Given the description of an element on the screen output the (x, y) to click on. 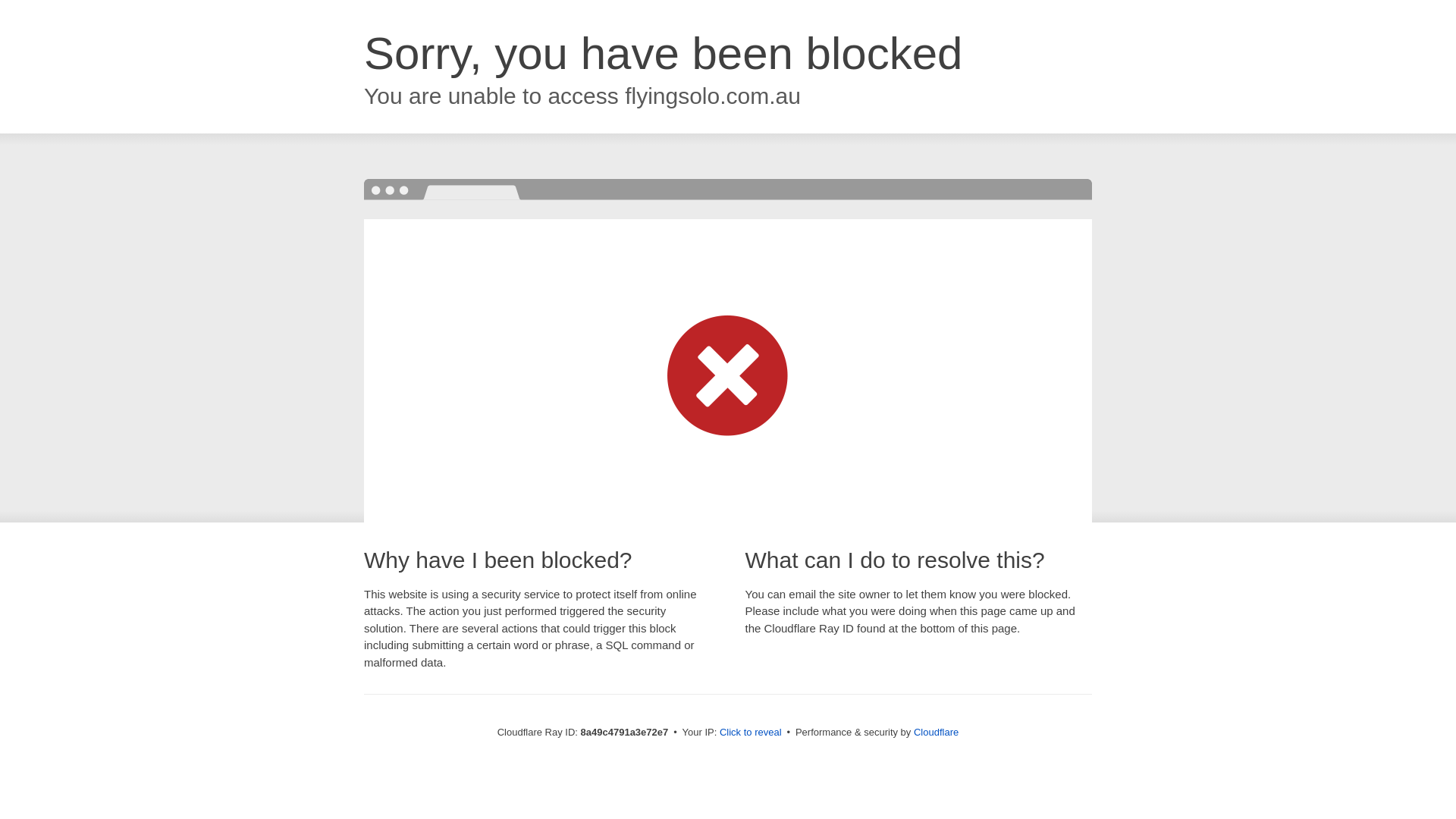
Click to reveal (750, 732)
Cloudflare (936, 731)
